Given the description of an element on the screen output the (x, y) to click on. 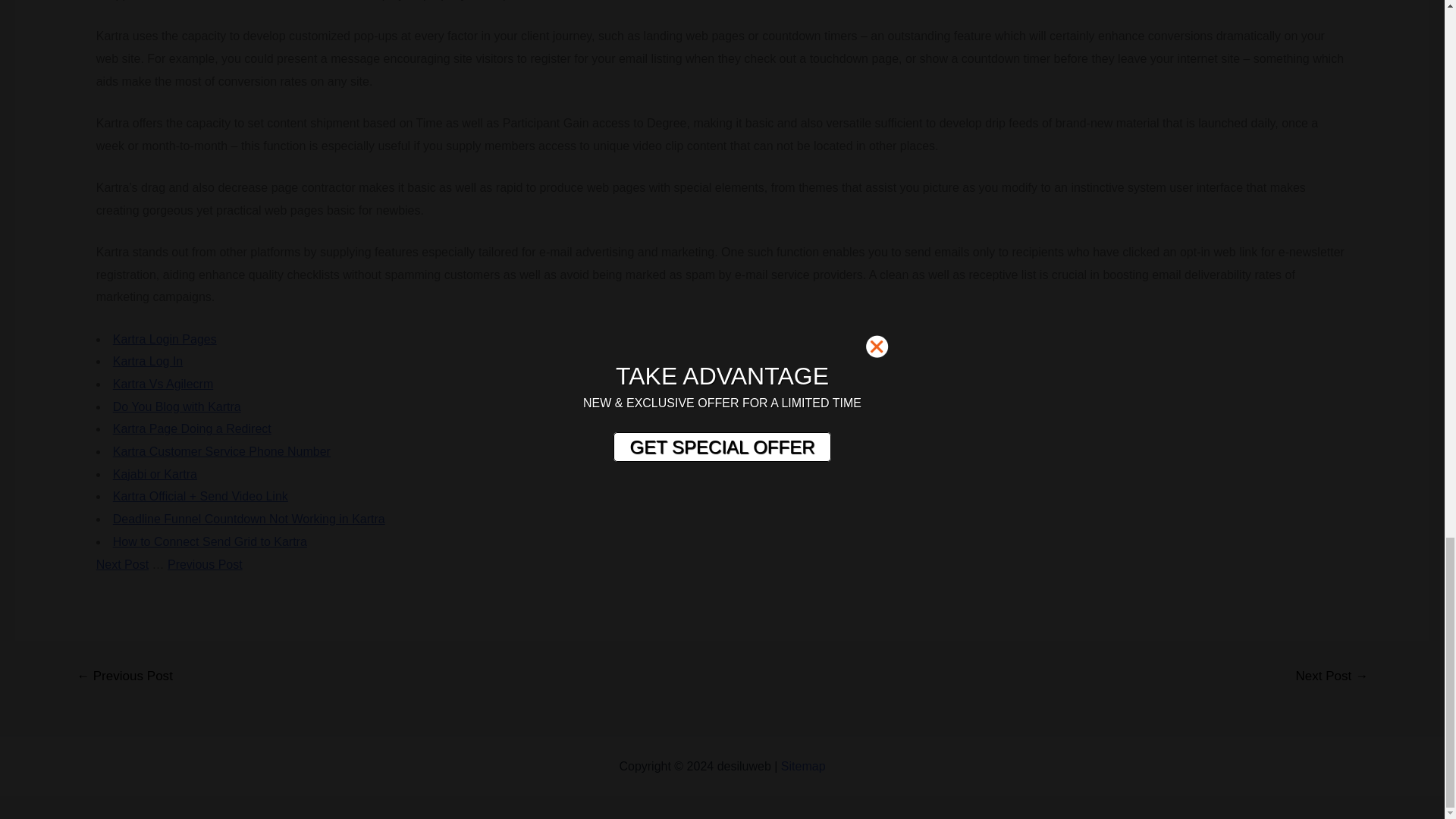
How to Connect Send Grid to Kartra (210, 541)
Kartra Vs Agilecrm (162, 383)
Do You Blog with Kartra (177, 406)
Previous Post (205, 563)
Deadline Funnel Countdown Not Working in Kartra (249, 518)
Kartra Log In (148, 360)
Kartra Page Doing a Redirect (191, 428)
Next Post (122, 563)
How to Connect Send Grid to Kartra (210, 541)
Kartra Customer Service Phone Number (221, 451)
